Given the description of an element on the screen output the (x, y) to click on. 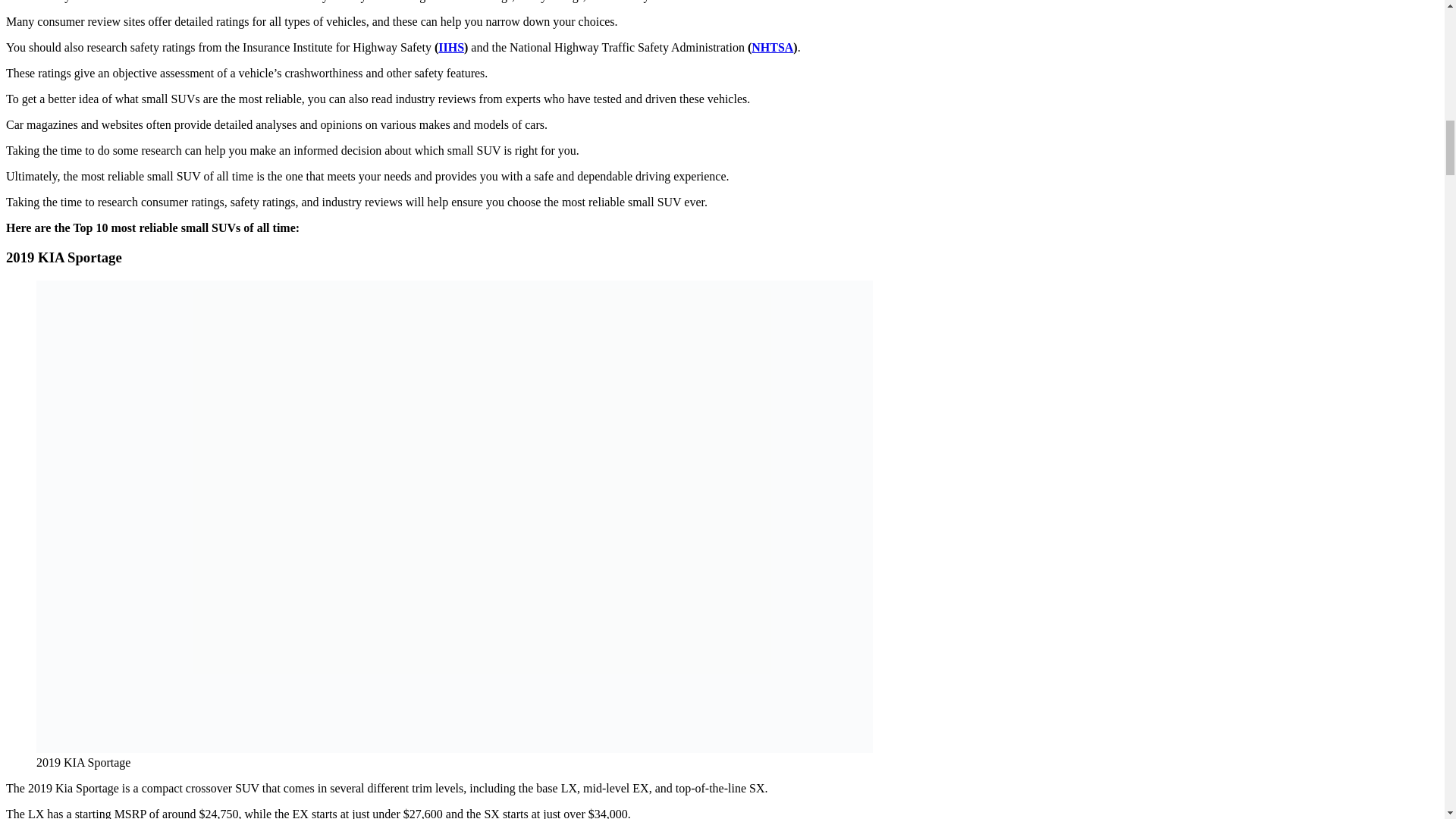
NHTSA (772, 47)
IIHS (451, 47)
